Given the description of an element on the screen output the (x, y) to click on. 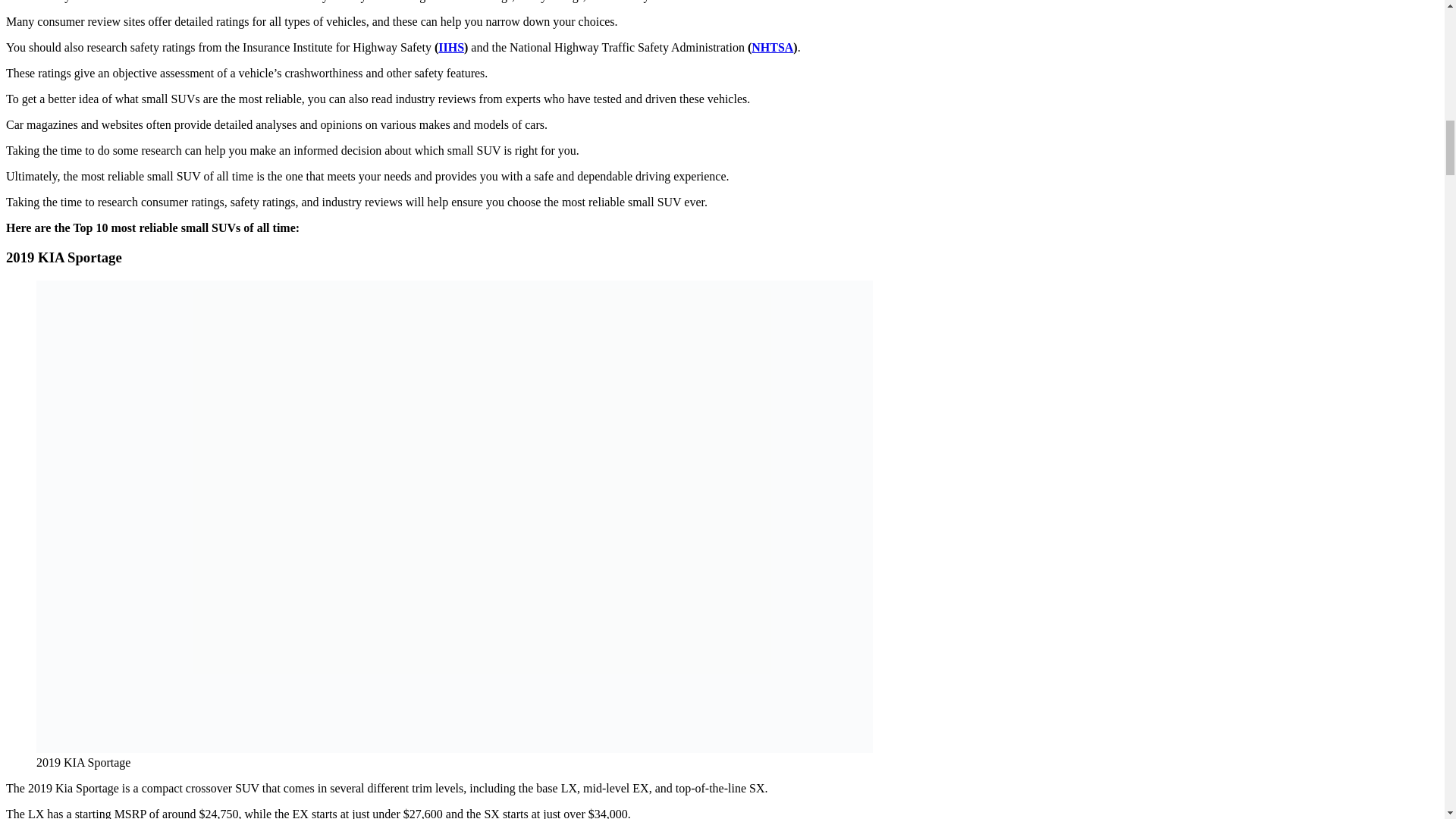
NHTSA (772, 47)
IIHS (451, 47)
